Given the description of an element on the screen output the (x, y) to click on. 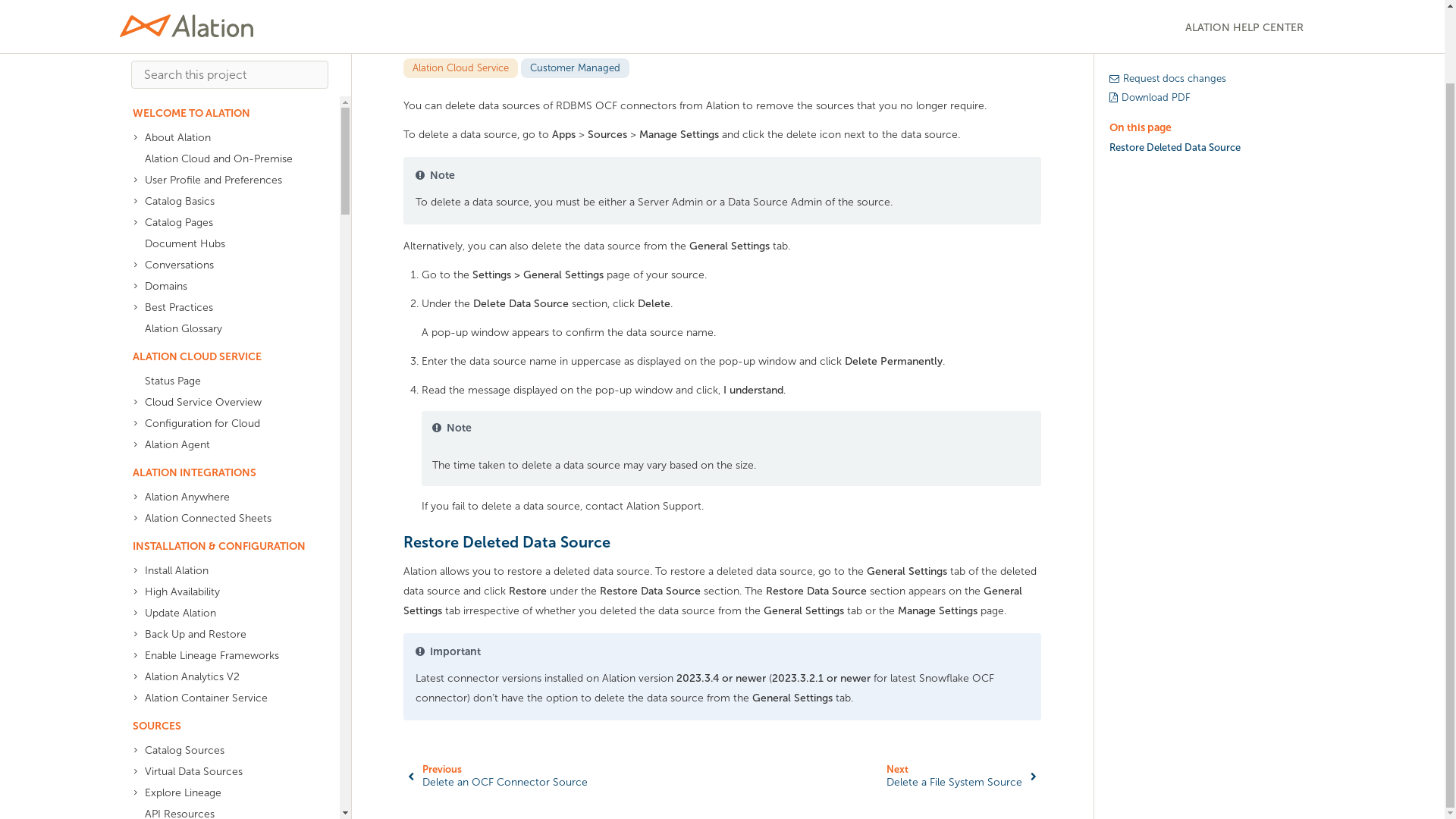
User Profile and Preferences (223, 97)
Best Practices (223, 225)
Alation Cloud and On-Premise (223, 76)
Alation Glossary (223, 246)
About Alation (223, 55)
Status Page (223, 299)
Cloud Service Overview (223, 320)
Conversations (223, 183)
Domains (223, 204)
Catalog Pages (223, 140)
Catalog Basics (223, 119)
Document Hubs (223, 161)
